Given the description of an element on the screen output the (x, y) to click on. 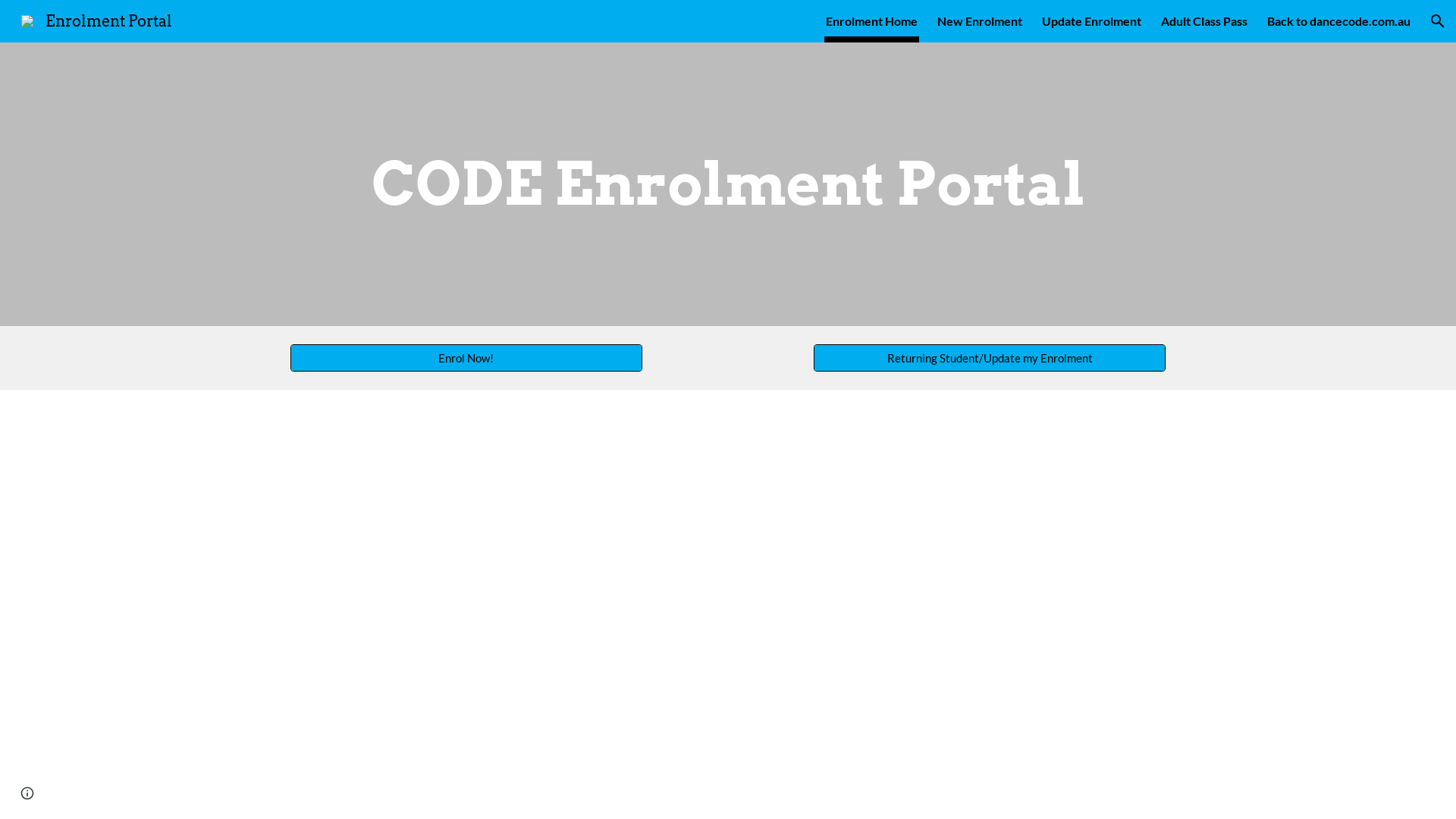
Enrolment Portal Element type: text (96, 19)
Returning Student/Update my Enrolment Element type: text (989, 357)
Enrolment Home Element type: text (871, 20)
Back to dancecode.com.au Element type: text (1338, 20)
Update Enrolment Element type: text (1091, 20)
Enrol Now! Element type: text (466, 357)
New Enrolment Element type: text (979, 20)
Adult Class Pass Element type: text (1204, 20)
